Given the description of an element on the screen output the (x, y) to click on. 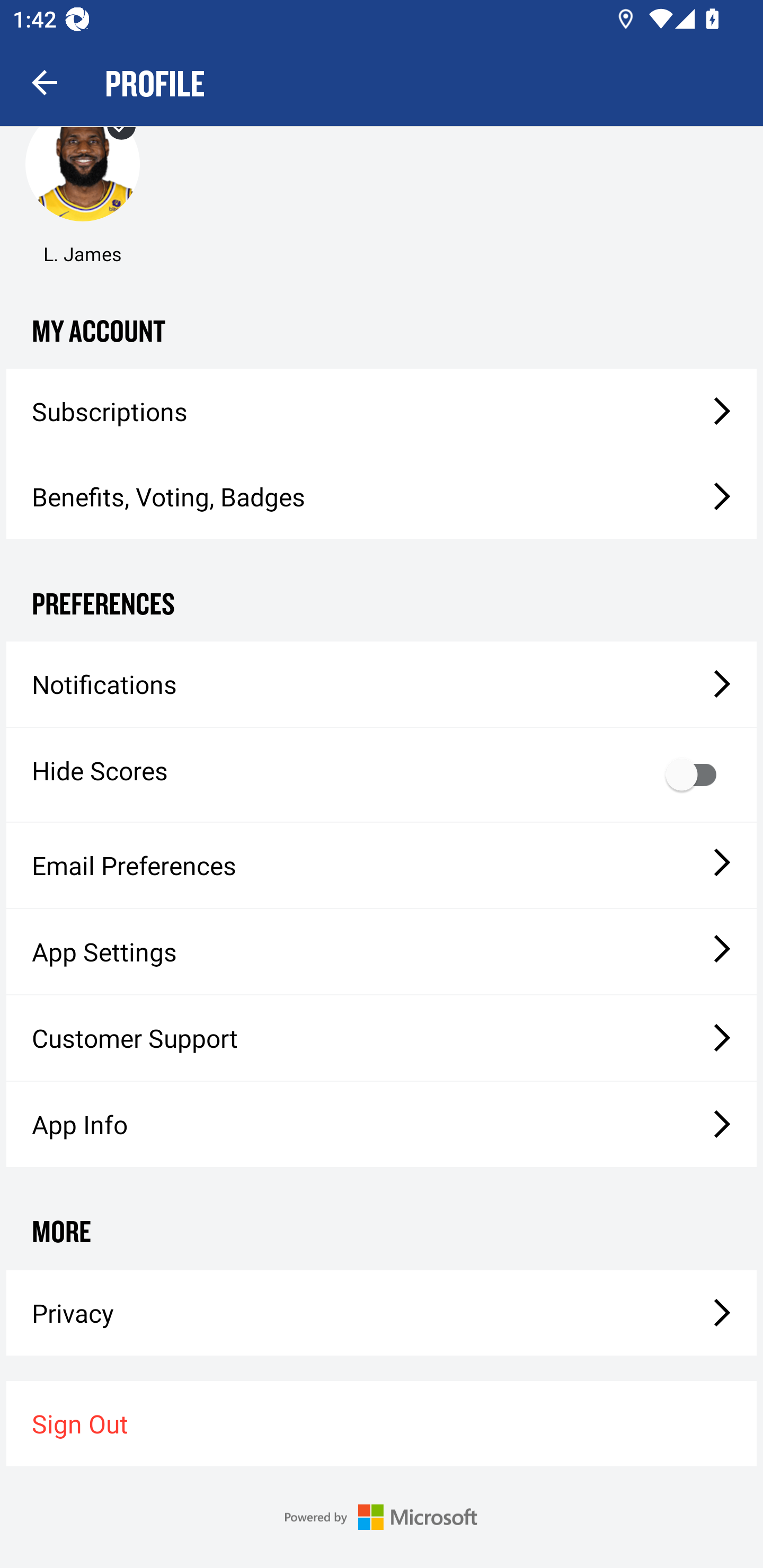
Navigate up (44, 82)
L. James (82, 186)
Subscriptions (381, 411)
Benefits, Voting, Badges (381, 496)
Notifications (381, 684)
Hide Scores (381, 774)
Email Preferences (381, 865)
App Settings (381, 951)
Customer Support (381, 1037)
App Info (381, 1123)
Privacy (381, 1313)
Sign Out (381, 1423)
